Given the description of an element on the screen output the (x, y) to click on. 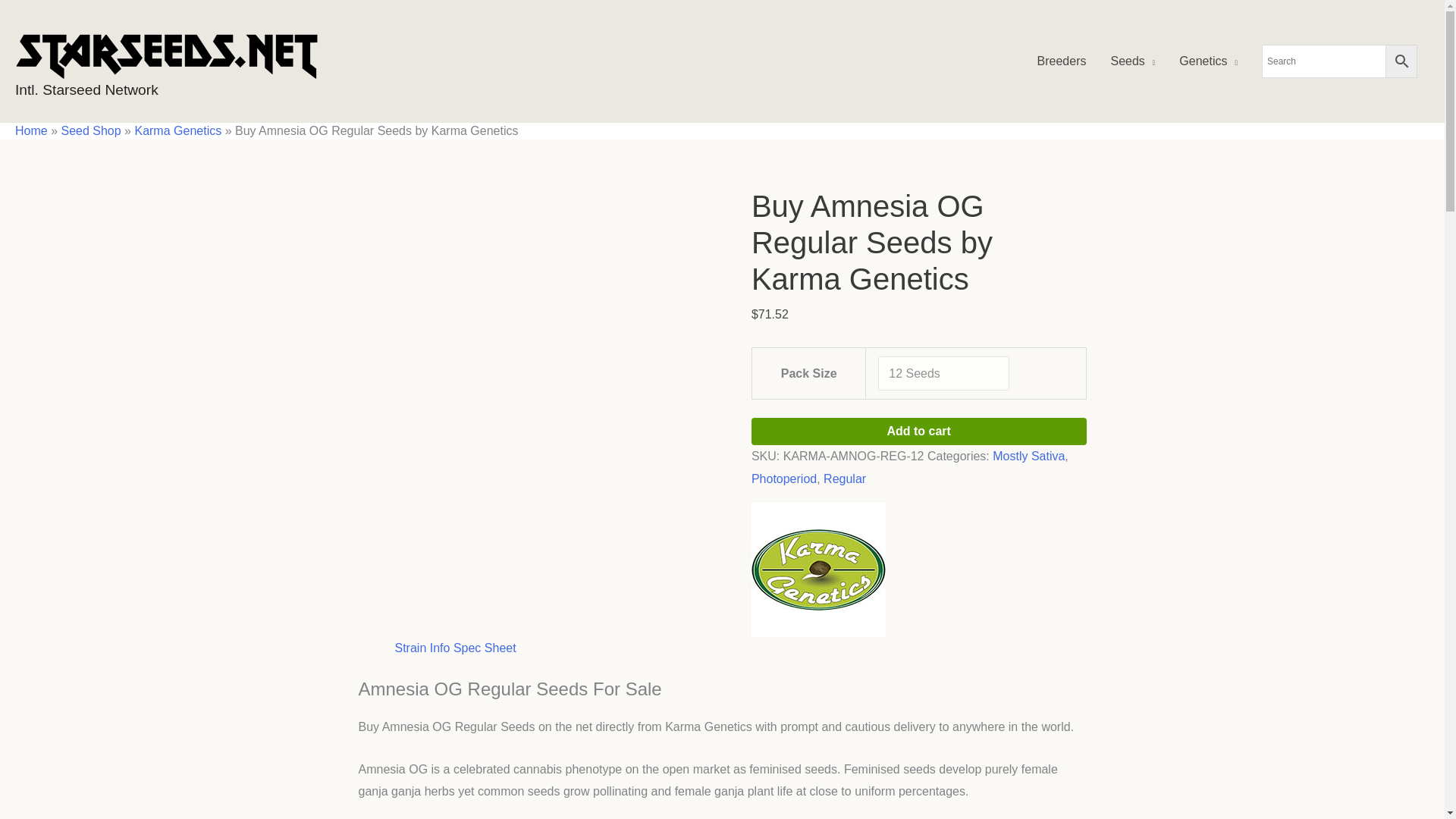
Mostly Sativa (1028, 455)
Spec Sheet (484, 647)
Home (31, 130)
Photoperiod (783, 478)
Karma Genetics (818, 569)
Strain Info (421, 647)
Genetics (1208, 60)
Regular (845, 478)
Add to cart (918, 431)
Seed Shop (90, 130)
